Given the description of an element on the screen output the (x, y) to click on. 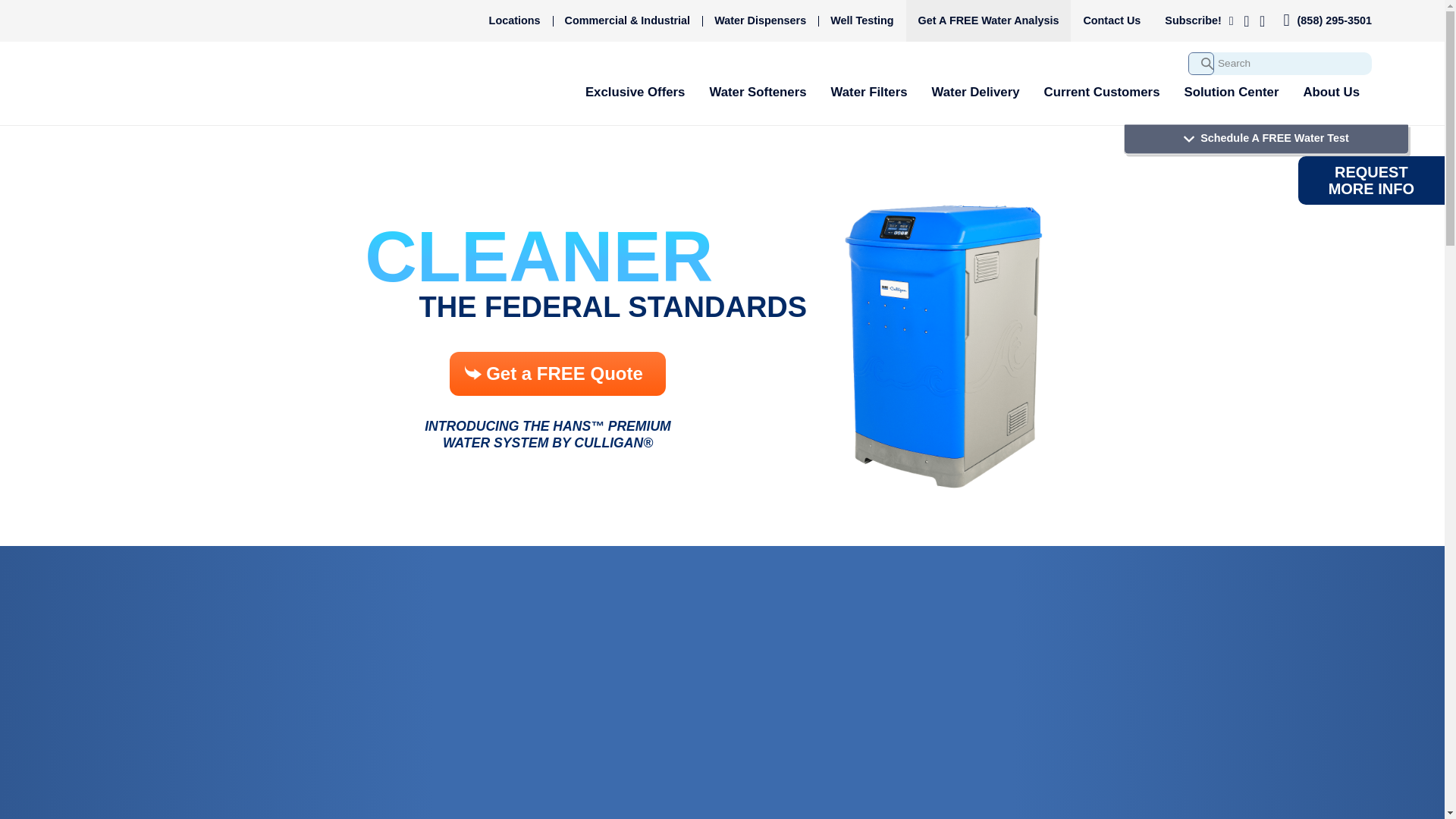
Subscribe (1198, 20)
Call us (1334, 20)
